Given the description of an element on the screen output the (x, y) to click on. 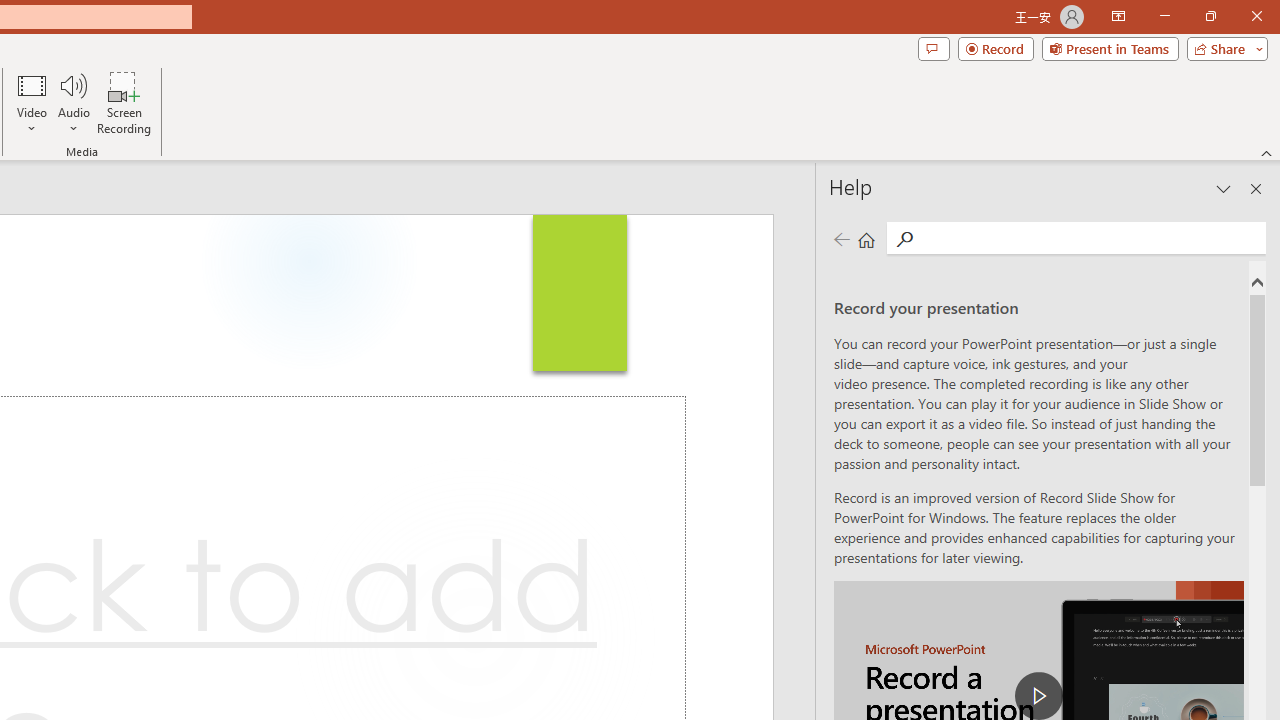
play Record a Presentation (1038, 695)
Video (31, 102)
Audio (73, 102)
Previous page (841, 238)
